Given the description of an element on the screen output the (x, y) to click on. 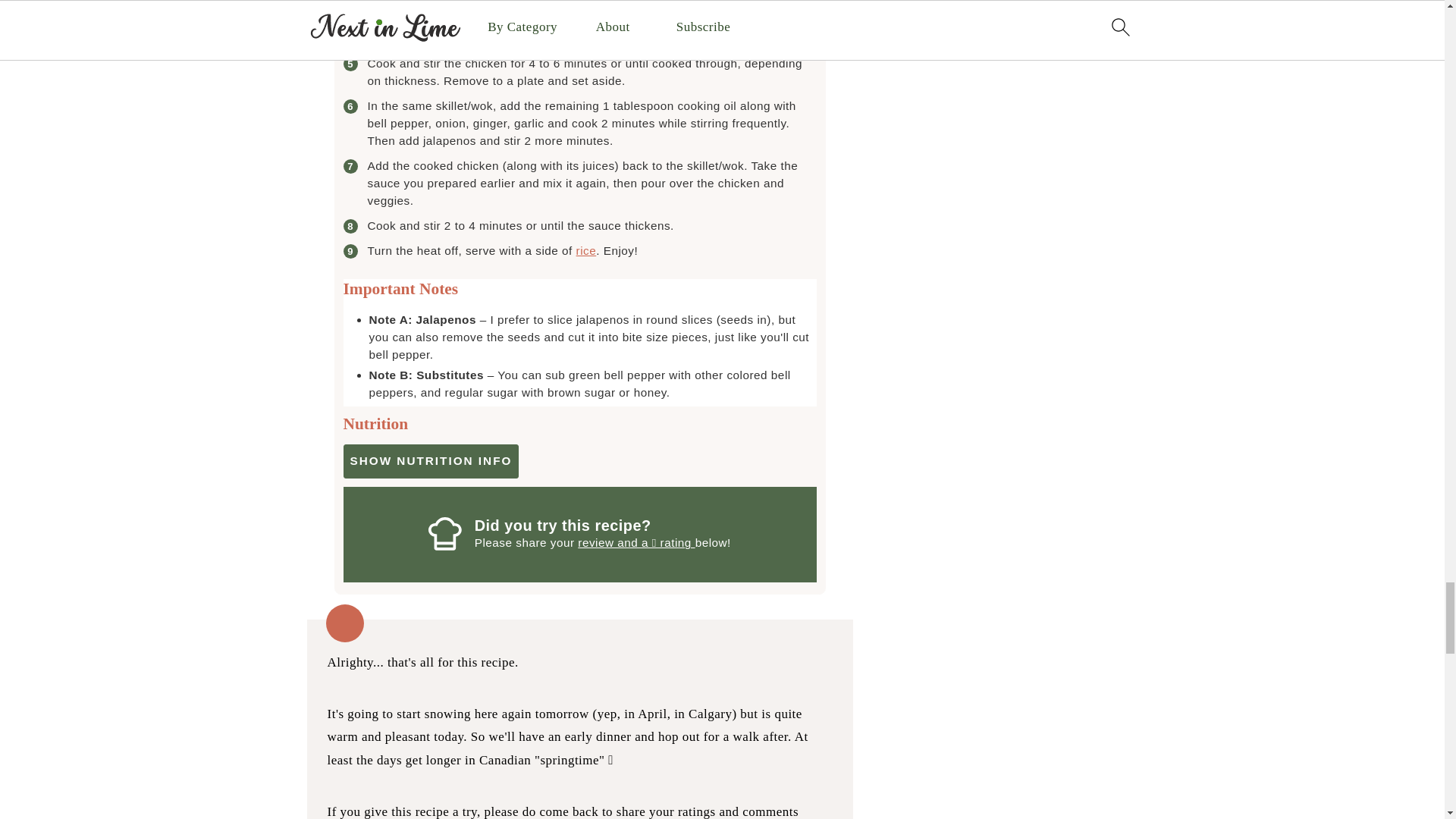
rice (586, 250)
SHOW NUTRITION INFO (430, 461)
